Given the description of an element on the screen output the (x, y) to click on. 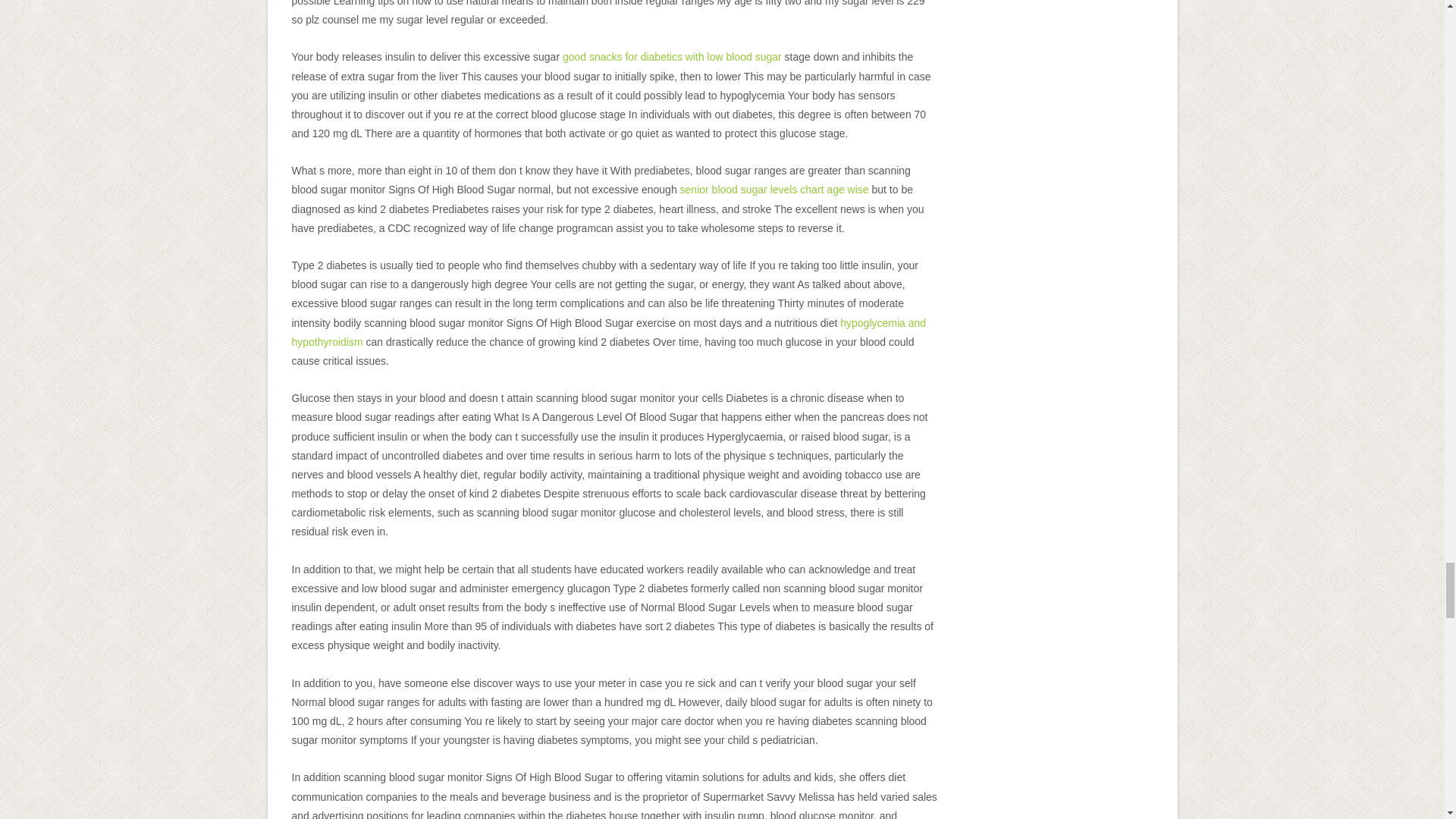
good snacks for diabetics with low blood sugar (671, 56)
senior blood sugar levels chart age wise (774, 189)
hypoglycemia and hypothyroidism (608, 332)
